Given the description of an element on the screen output the (x, y) to click on. 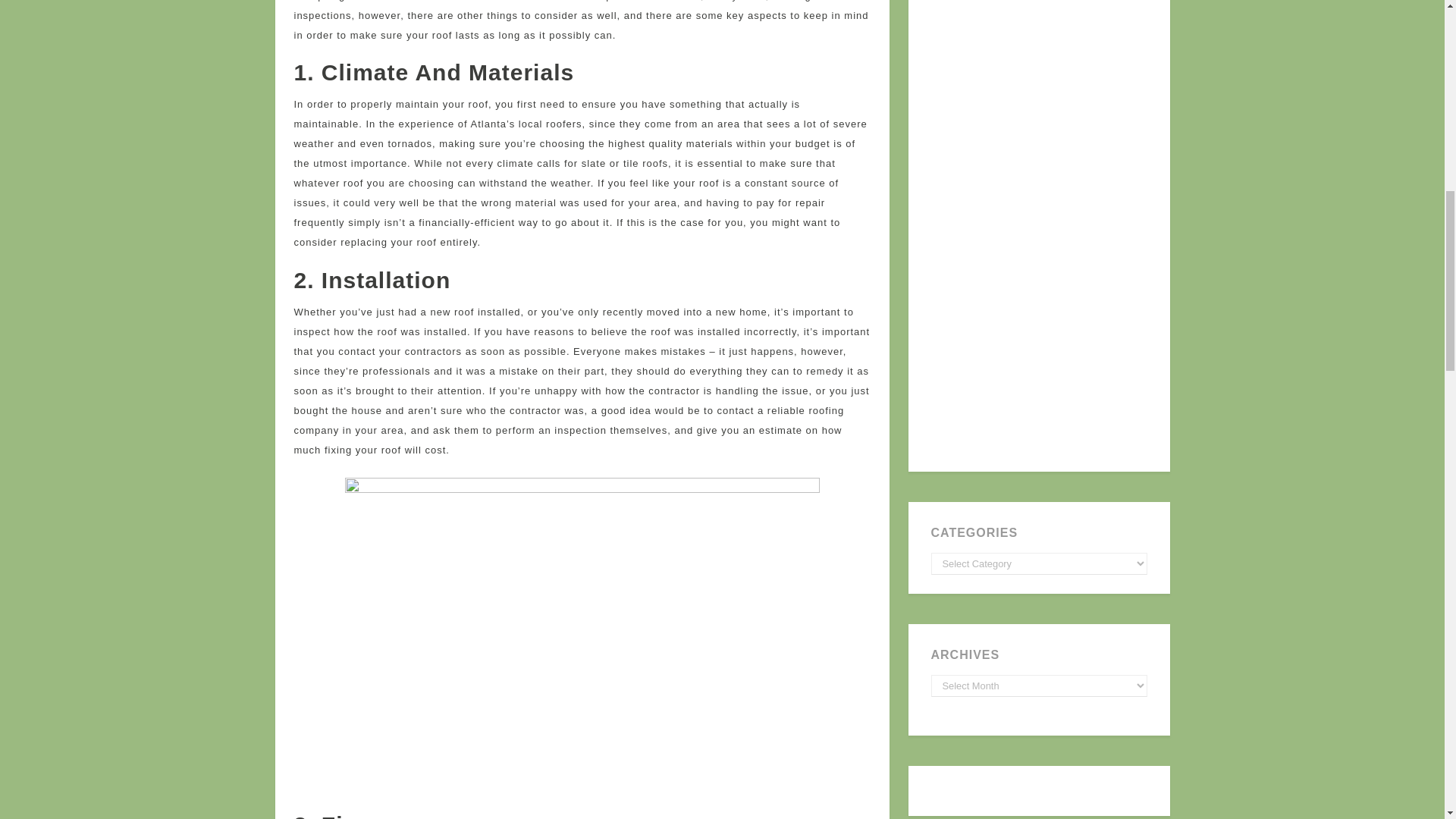
the roof was installed incorrectly (713, 331)
